Given the description of an element on the screen output the (x, y) to click on. 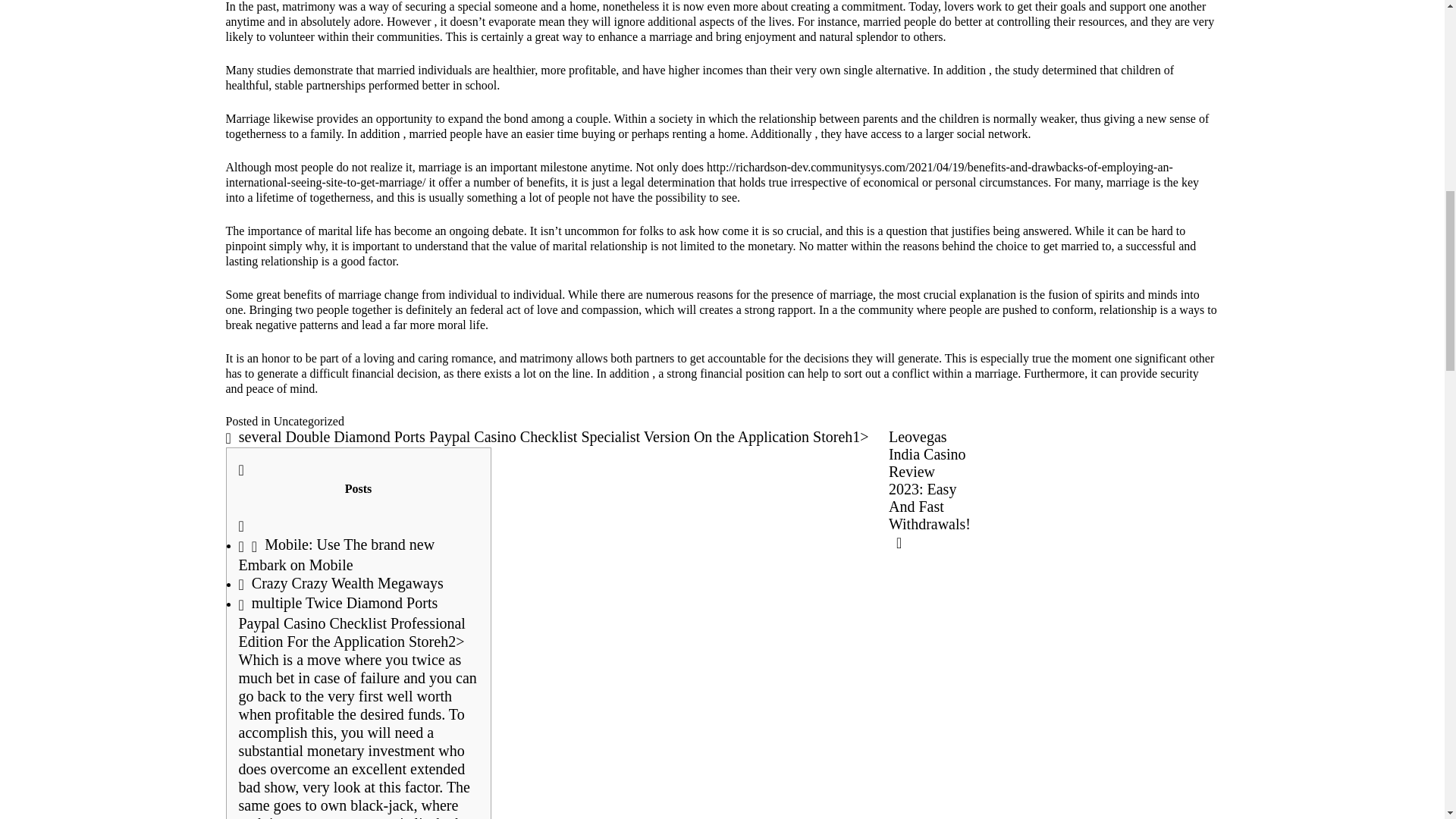
Mobile: Use The brand new Embark on Mobile (335, 554)
Posts (357, 479)
Uncategorized (308, 420)
Crazy Crazy Wealth Megaways (340, 582)
